Given the description of an element on the screen output the (x, y) to click on. 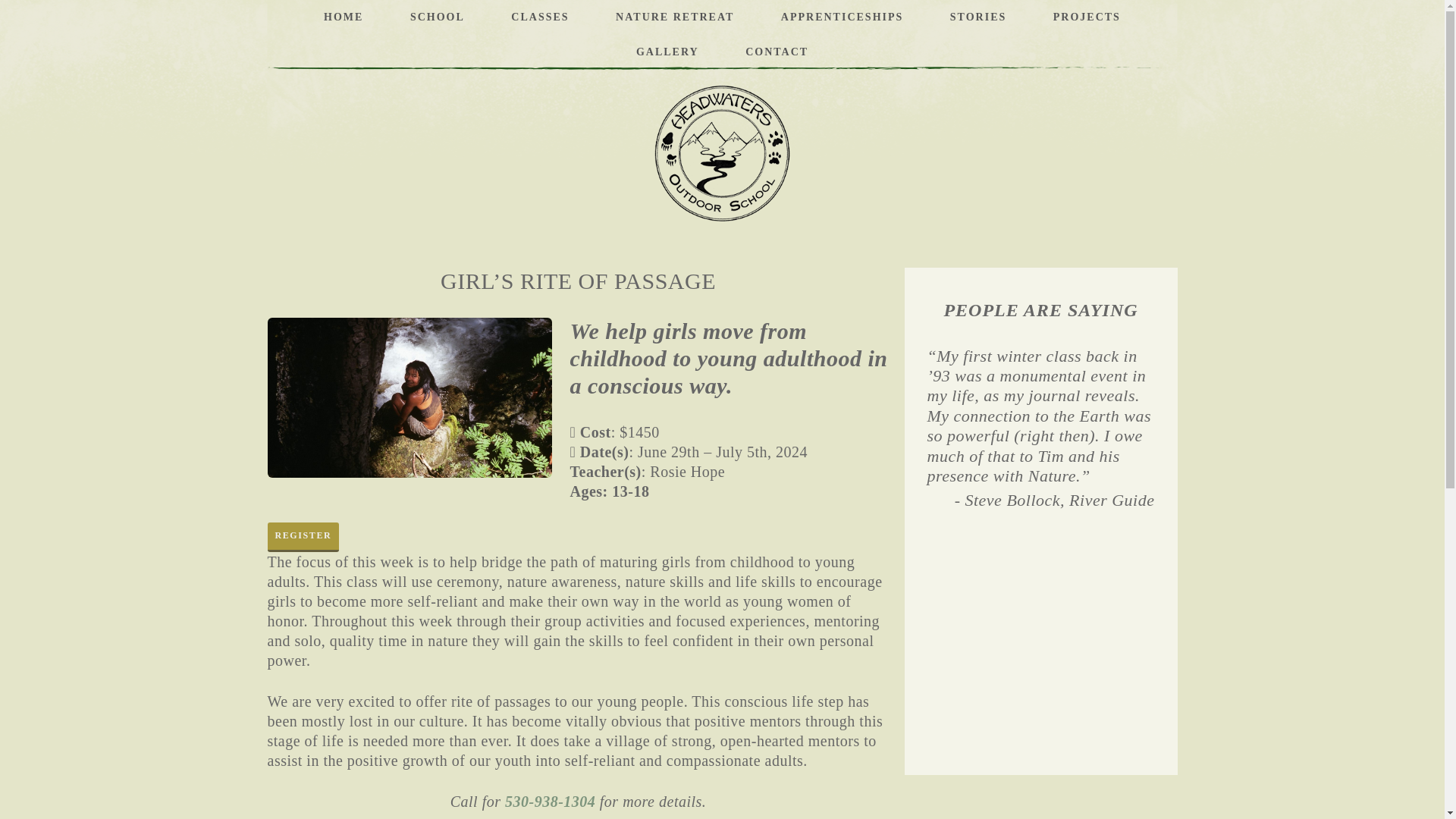
SCHOOL (437, 17)
HEADWATERS OUTDOOR SCHOOL (722, 153)
STORIES (977, 17)
NATURE RETREAT (674, 17)
REGISTER (302, 537)
CLASSES (539, 17)
HOME (343, 17)
APPRENTICESHIPS (842, 17)
530-938-1304 (550, 801)
PROJECTS (1086, 17)
CONTACT (776, 52)
GALLERY (667, 52)
